Given the description of an element on the screen output the (x, y) to click on. 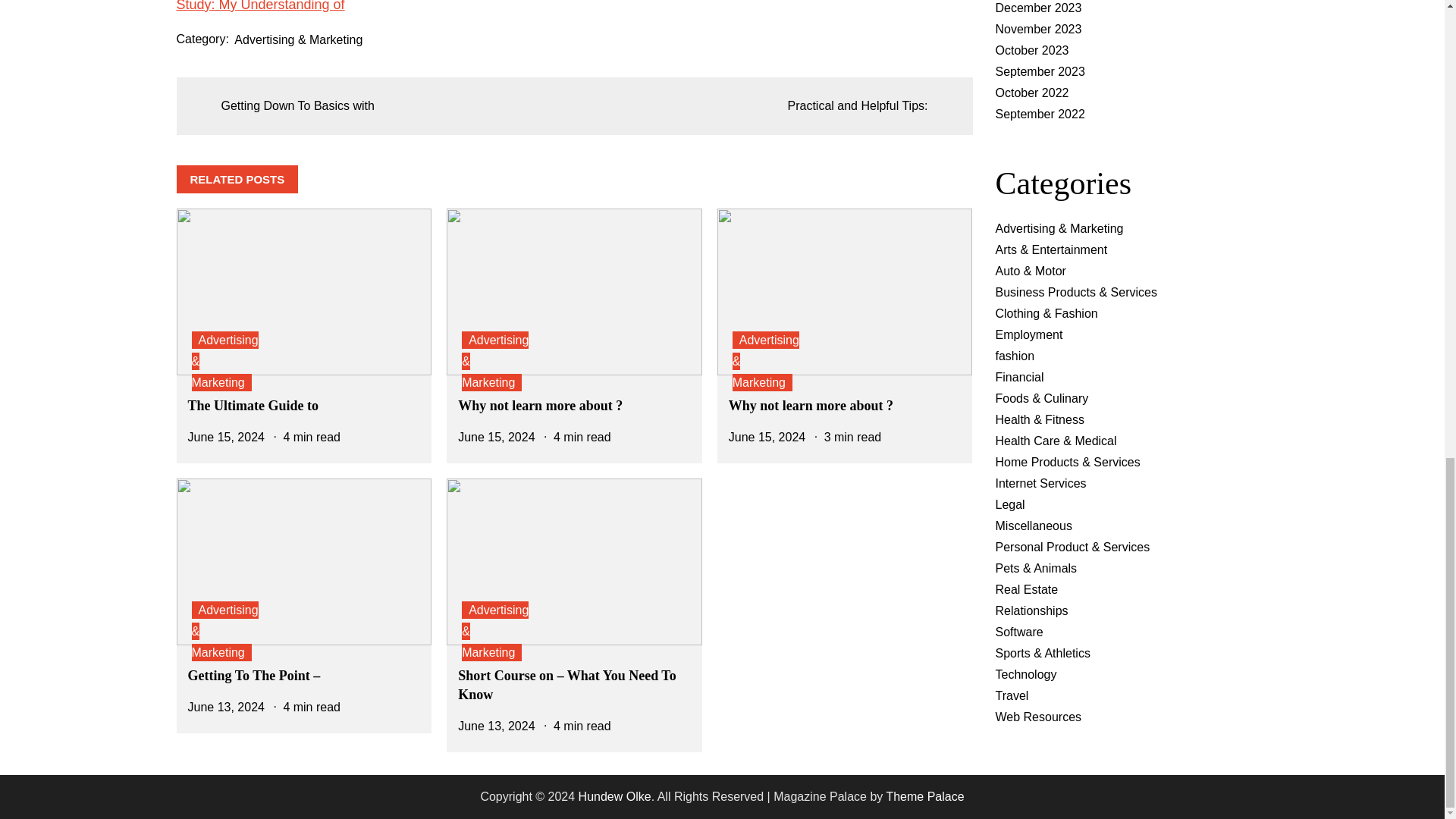
June 13, 2024 (225, 707)
June 15, 2024 (496, 436)
June 13, 2024 (496, 725)
The Ultimate Guide to (252, 405)
Why not learn more about ? (811, 405)
Why not learn more about ? (540, 405)
June 15, 2024 (767, 436)
June 15, 2024 (225, 436)
Study: My Understanding of (259, 6)
December 2023 (1037, 7)
